Given the description of an element on the screen output the (x, y) to click on. 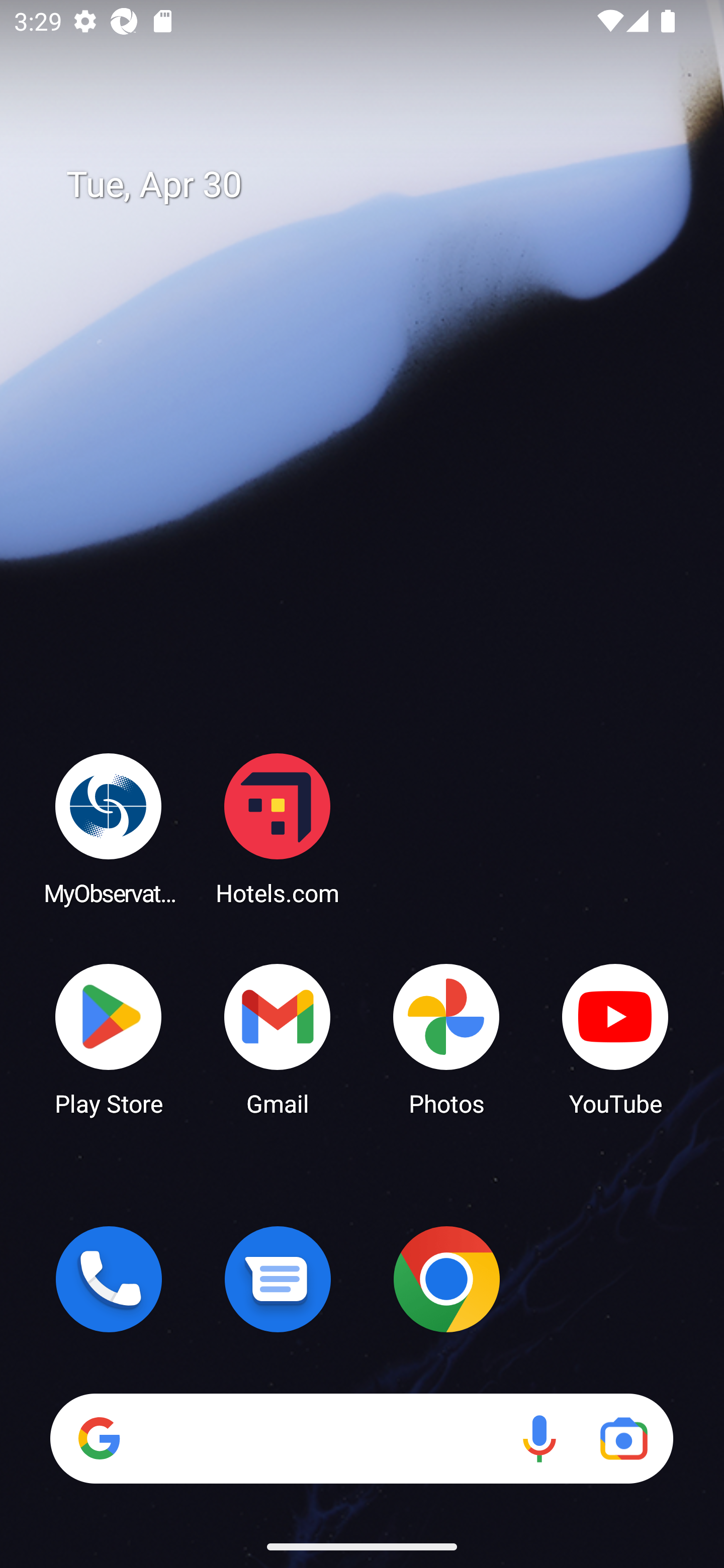
Tue, Apr 30 (375, 184)
MyObservatory (108, 828)
Hotels.com (277, 828)
Play Store (108, 1038)
Gmail (277, 1038)
Photos (445, 1038)
YouTube (615, 1038)
Phone (108, 1279)
Messages (277, 1279)
Chrome (446, 1279)
Voice search (539, 1438)
Google Lens (623, 1438)
